Given the description of an element on the screen output the (x, y) to click on. 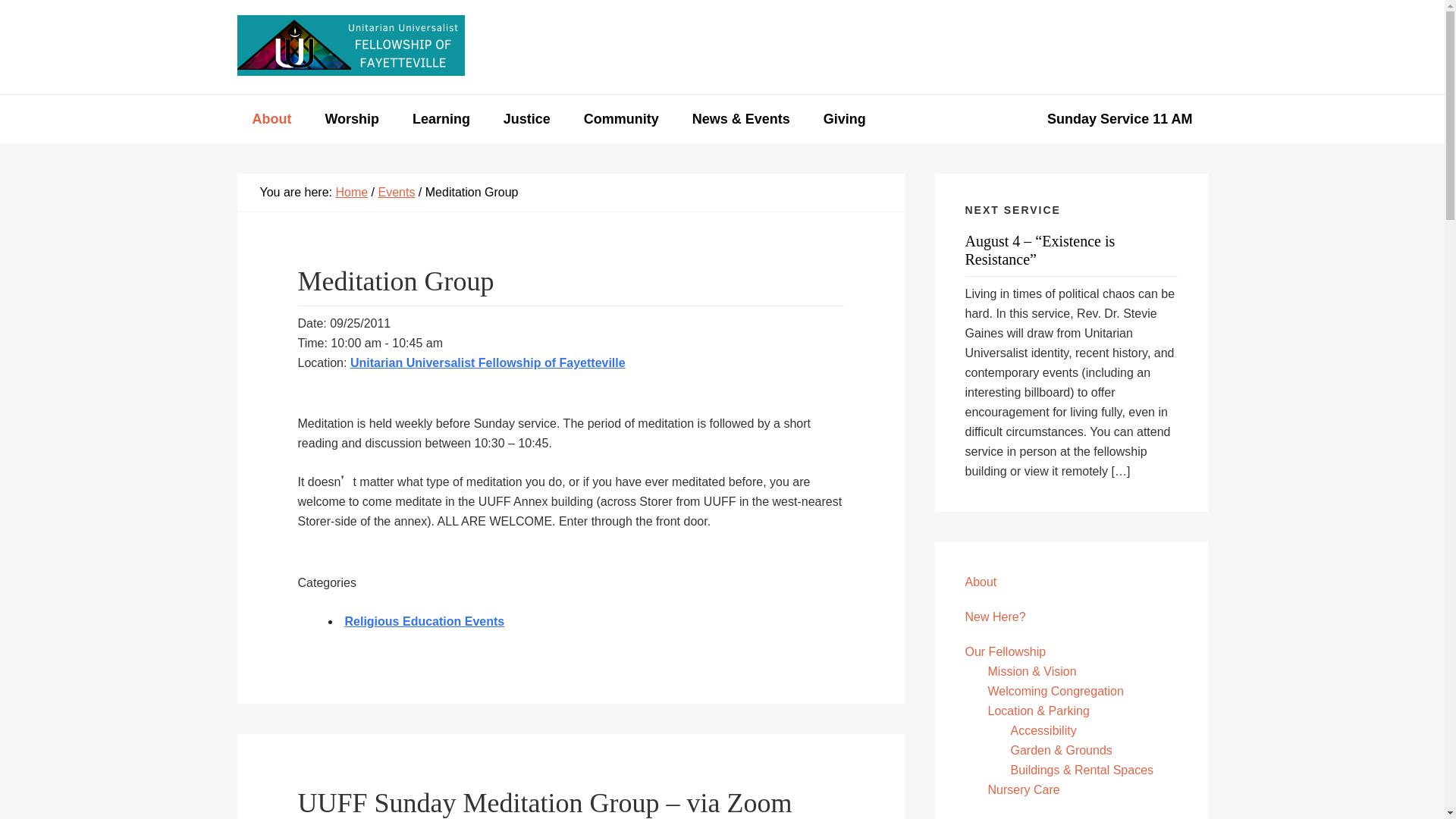
About (270, 119)
Donate (1169, 46)
Worship (351, 119)
Learning (440, 119)
Visit (1014, 46)
Contact (1087, 46)
UUFF (349, 45)
